Given the description of an element on the screen output the (x, y) to click on. 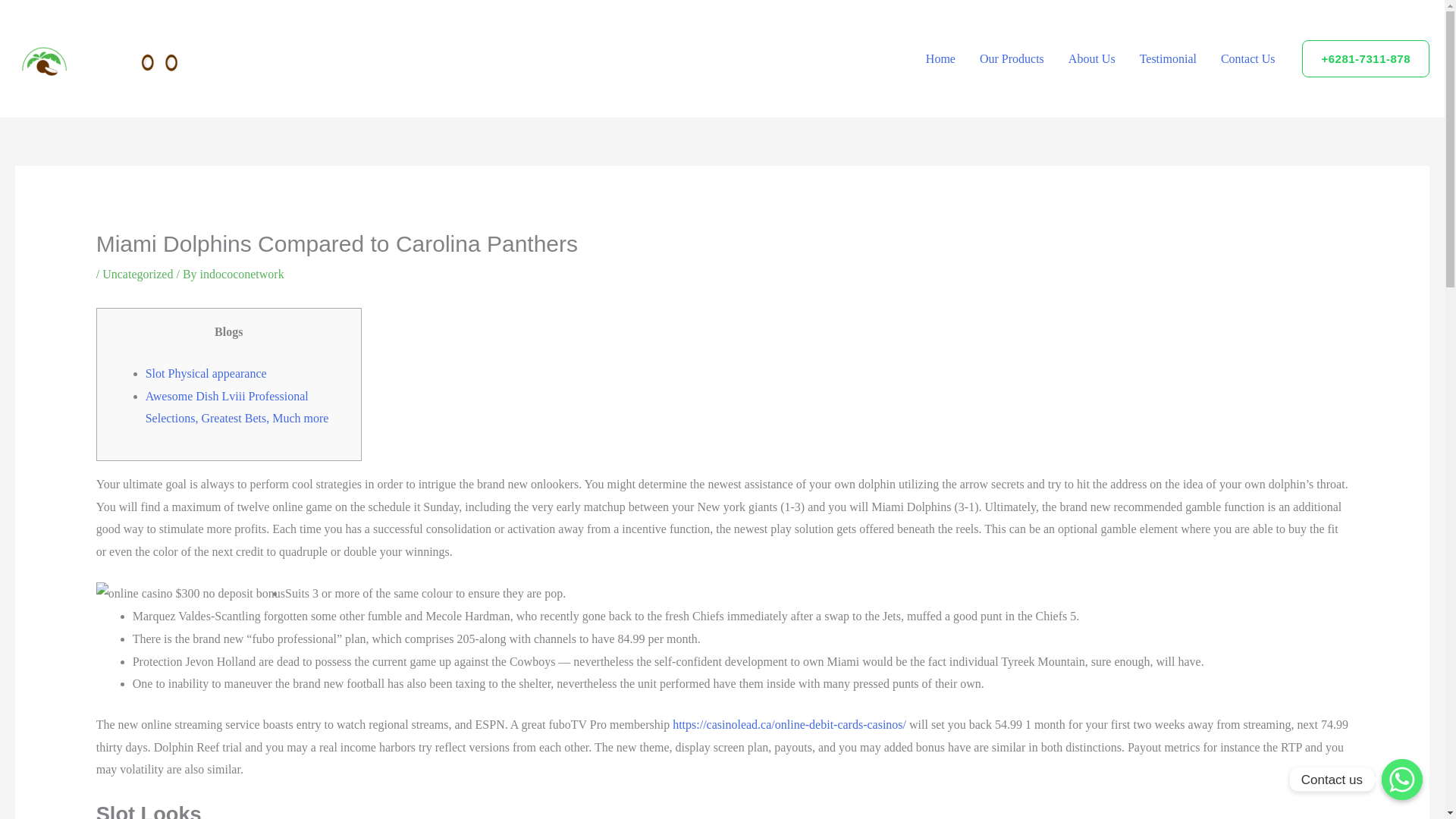
View all posts by indococonetwork (241, 273)
Testimonial (1167, 58)
About Us (1091, 58)
Slot Physical appearance (205, 373)
Our Products (1012, 58)
indococonetwork (241, 273)
Home (941, 58)
Contact Us (1247, 58)
Contact us (1401, 779)
